Given the description of an element on the screen output the (x, y) to click on. 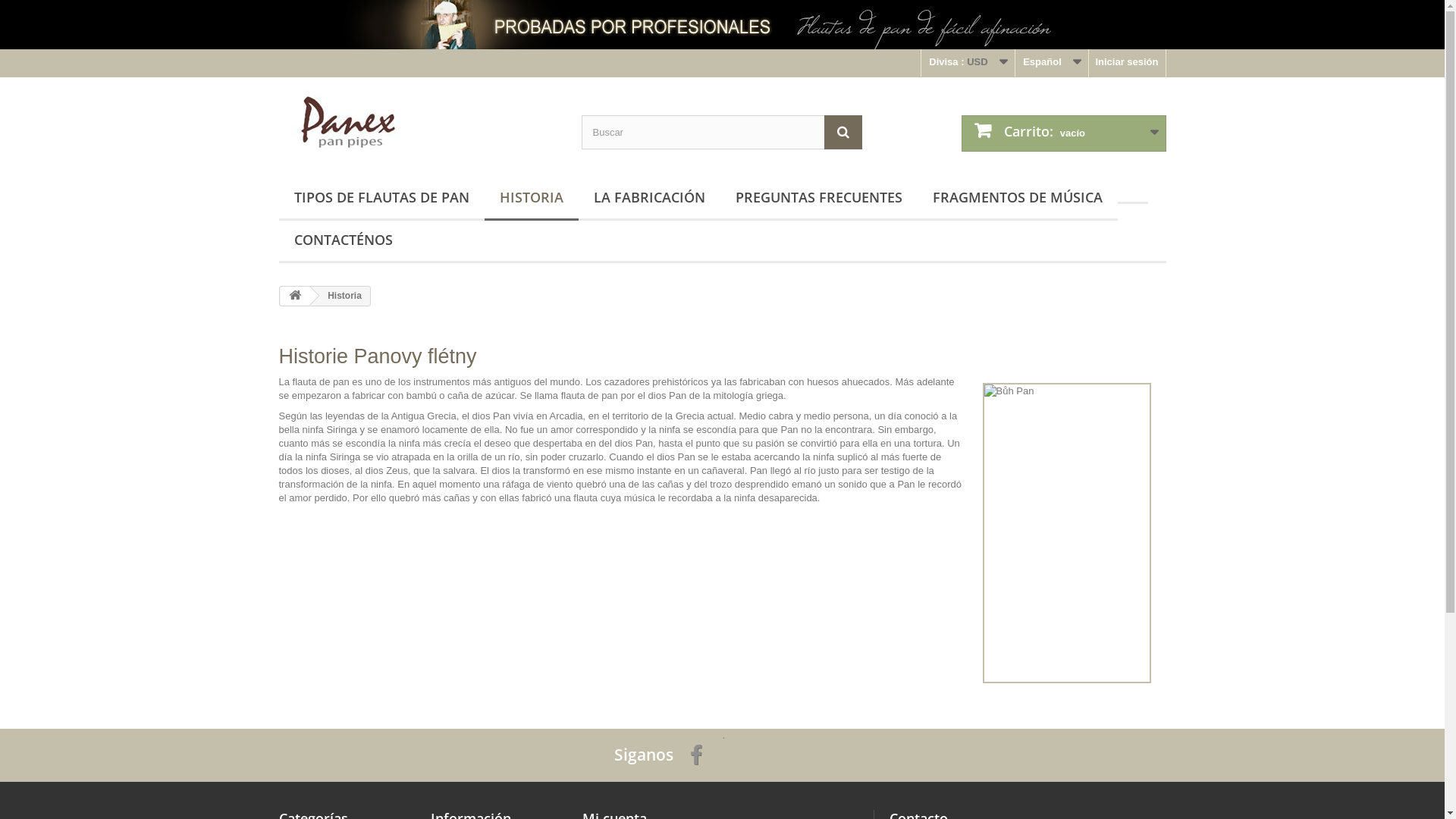
PREGUNTAS FRECUENTES Element type: text (818, 197)
Panex Element type: hover (419, 122)
HISTORIA Element type: text (530, 197)
Volver a Inicio Element type: hover (294, 295)
  Element type: hover (1132, 189)
TIPOS DE FLAUTAS DE PAN Element type: text (381, 197)
